Given the description of an element on the screen output the (x, y) to click on. 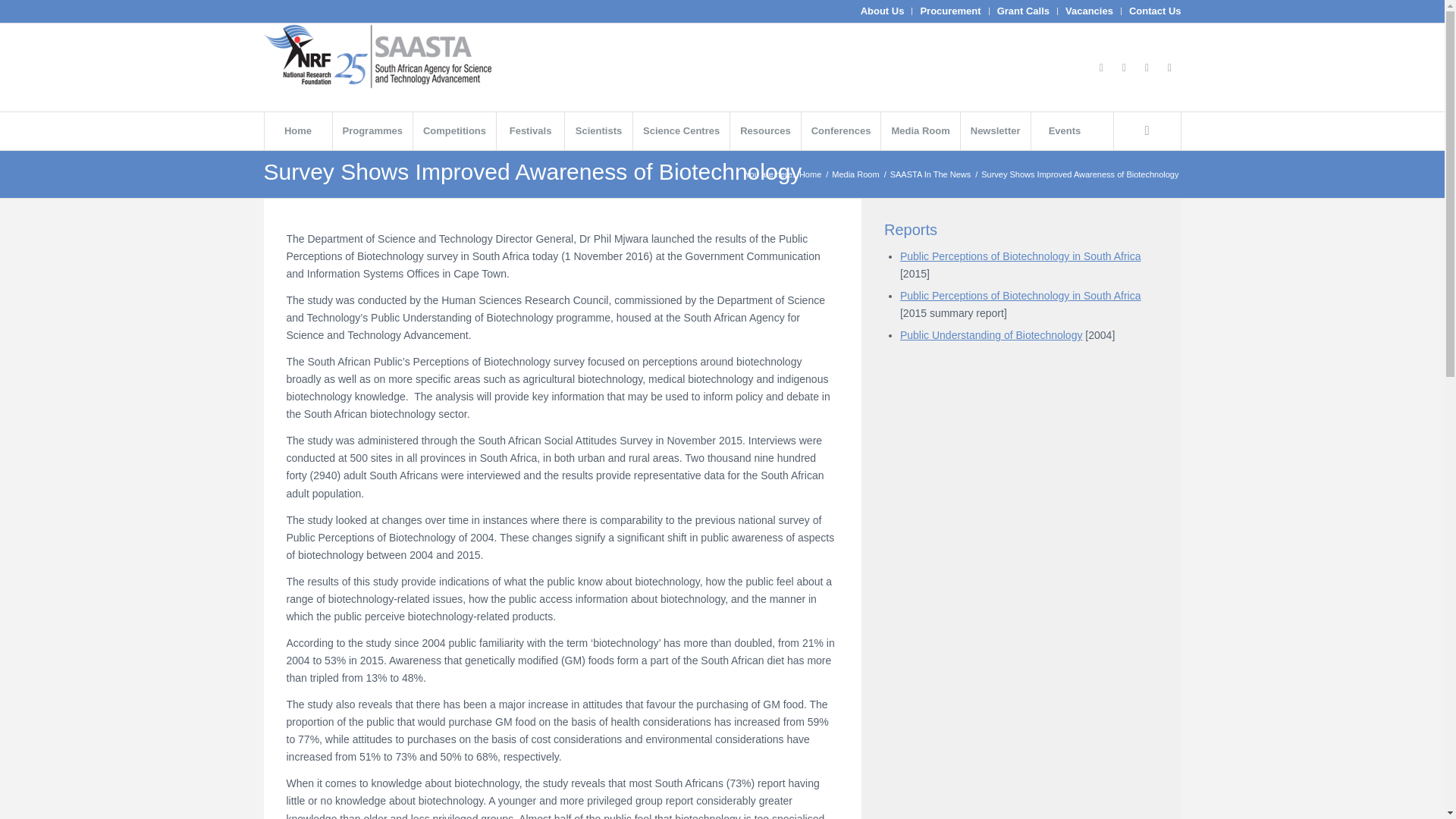
Procurement (949, 11)
Programmes (371, 130)
Grant Calls (1023, 11)
SAASTA (810, 174)
Vacancies (1089, 11)
Competitions (454, 130)
Mail (1169, 67)
Contact Us (1154, 11)
Home (297, 130)
Youtube (1146, 67)
